Given the description of an element on the screen output the (x, y) to click on. 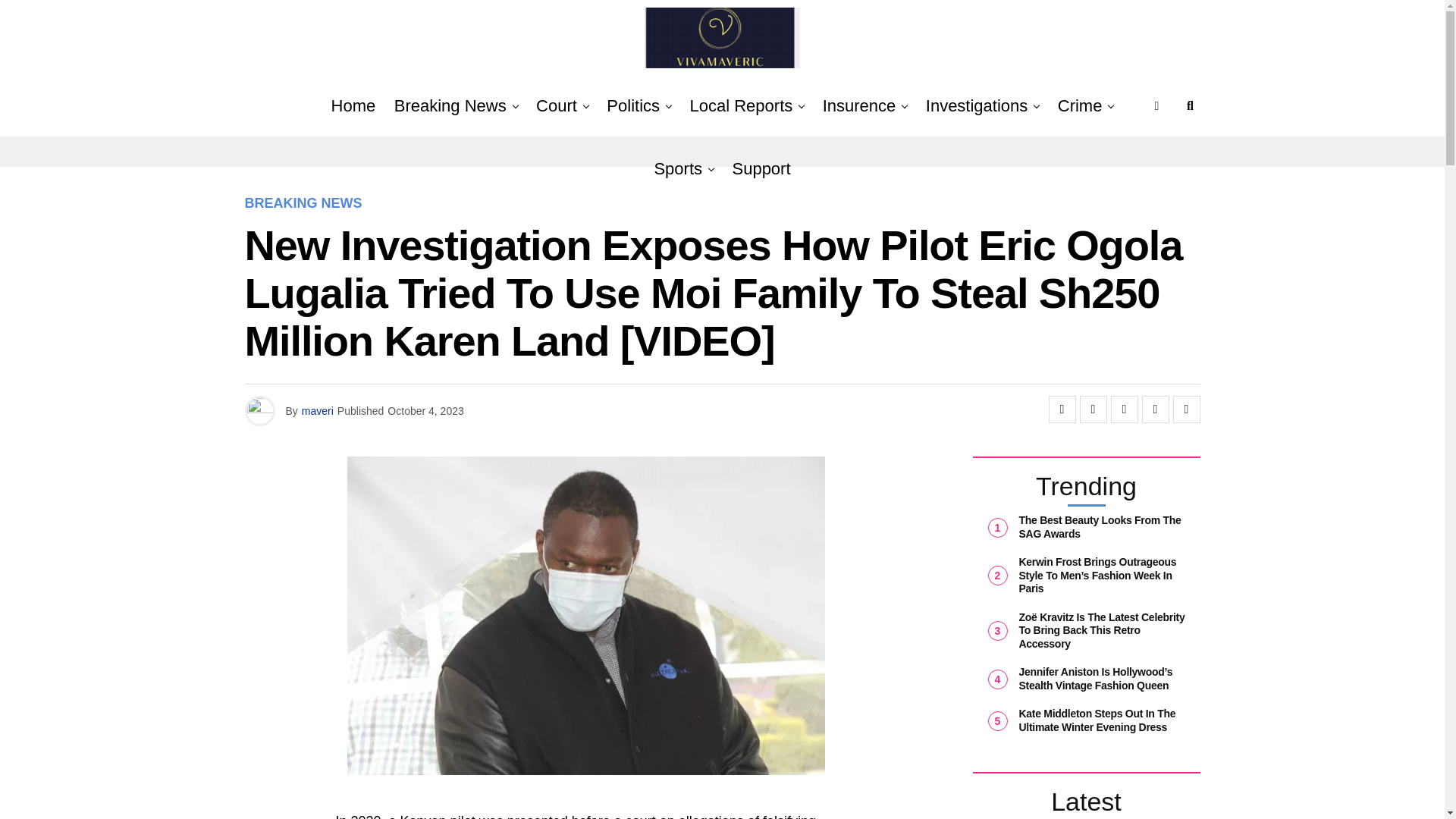
Investigations (976, 106)
Posts by maveri (317, 410)
Insurence (859, 106)
Share on Facebook (1061, 409)
Court (556, 106)
Local Reports (741, 106)
Politics (632, 106)
Home (353, 106)
Breaking News (450, 106)
Tweet This Post (1093, 409)
